Given the description of an element on the screen output the (x, y) to click on. 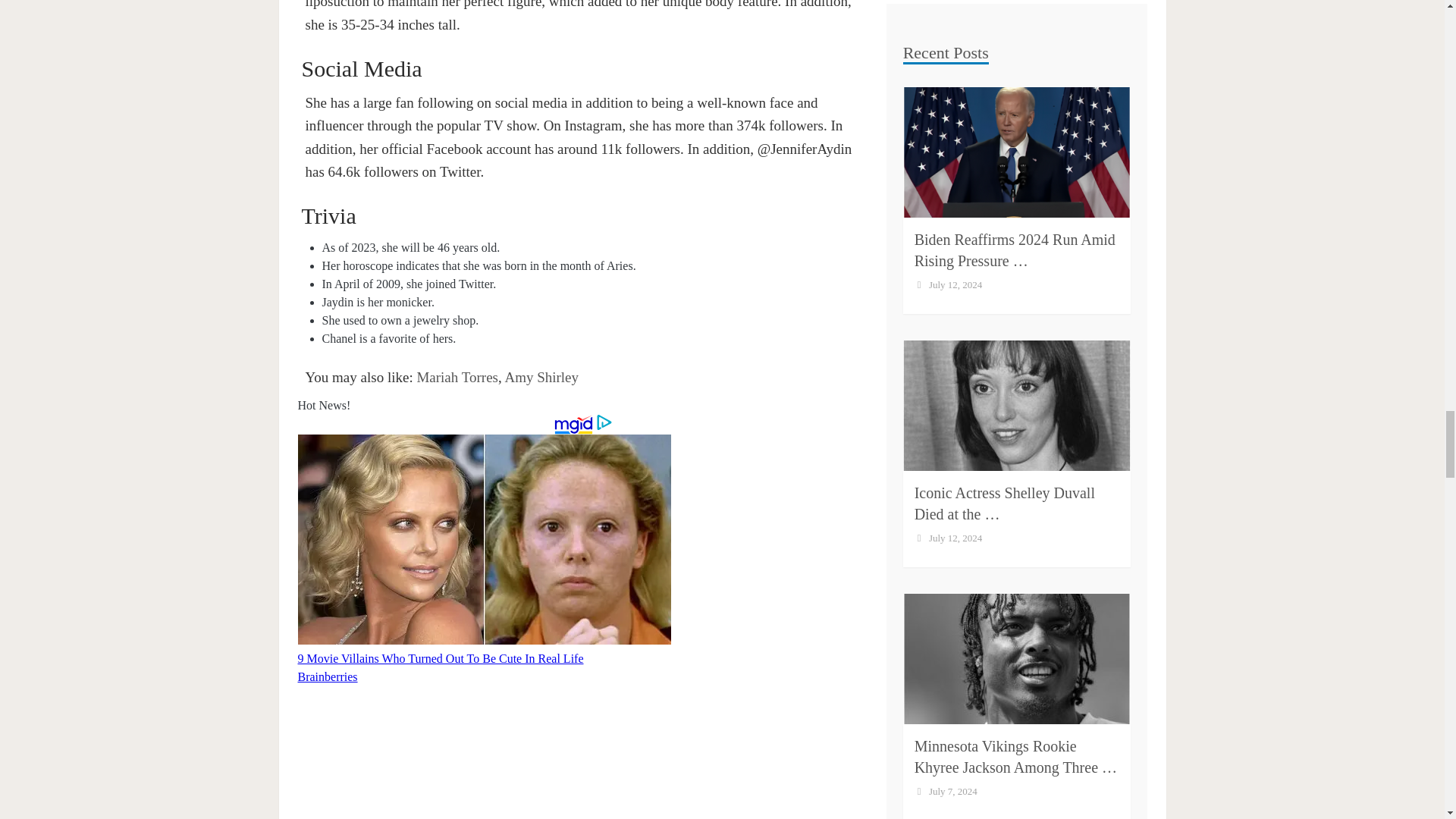
Amy Shirley (540, 376)
Mariah Torres (456, 376)
